Given the description of an element on the screen output the (x, y) to click on. 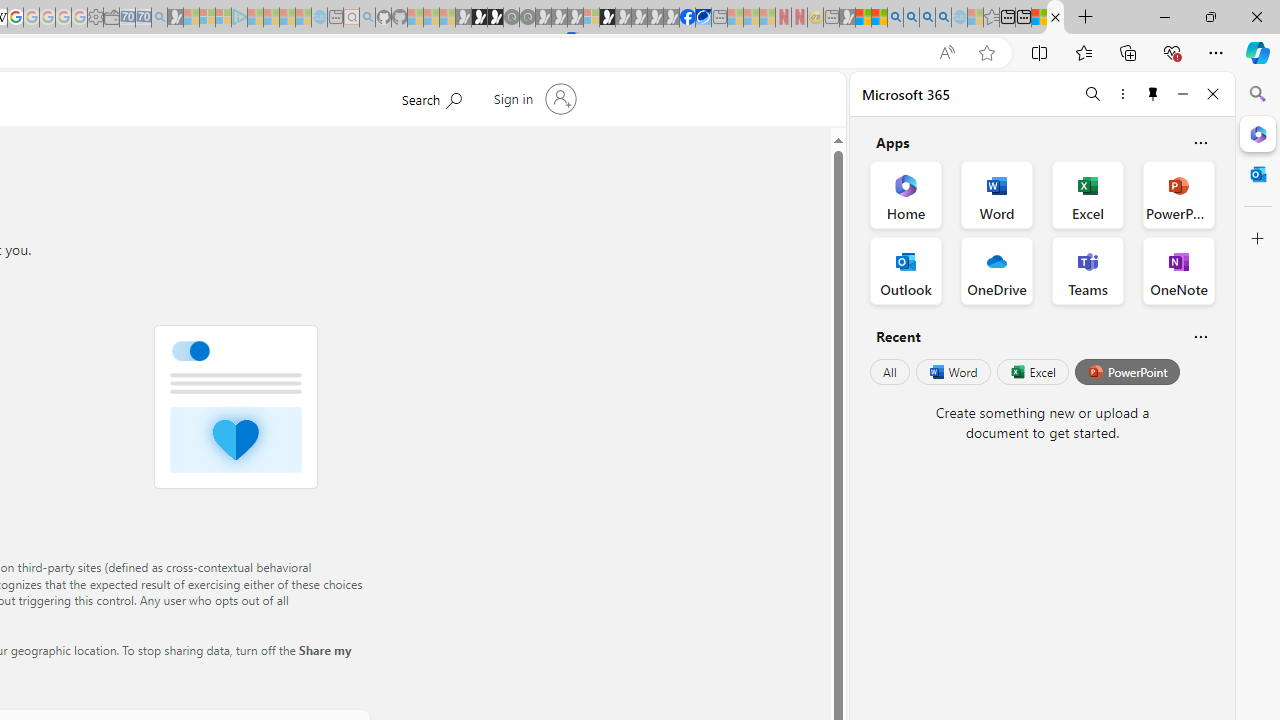
MSN - Sleeping (847, 17)
Close Customize pane (1258, 239)
Sign in to your account - Sleeping (591, 17)
Excel (1031, 372)
Wallet - Sleeping (111, 17)
OneNote Office App (1178, 270)
Excel Office App (1087, 194)
